Given the description of an element on the screen output the (x, y) to click on. 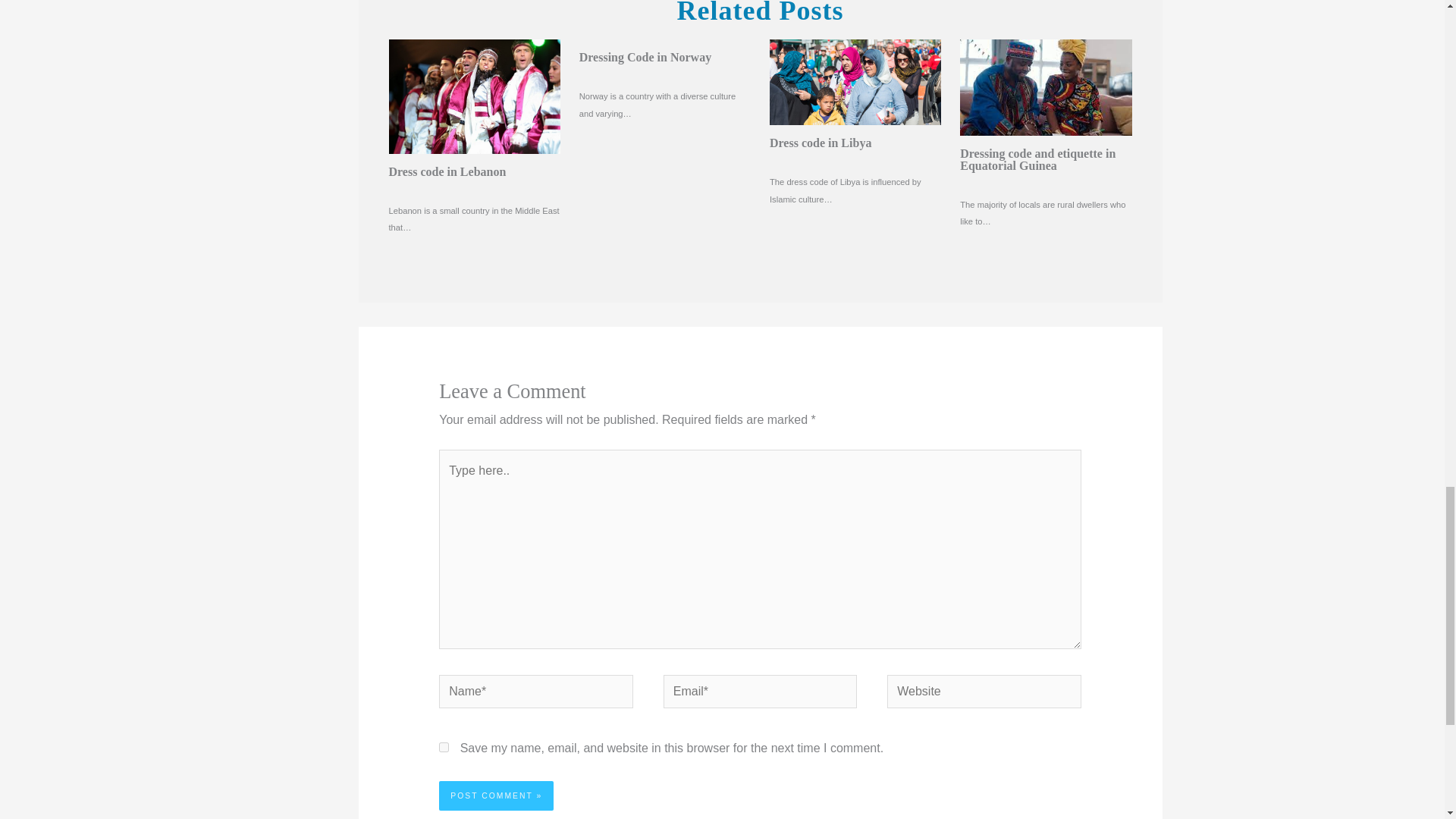
yes (443, 747)
